Given the description of an element on the screen output the (x, y) to click on. 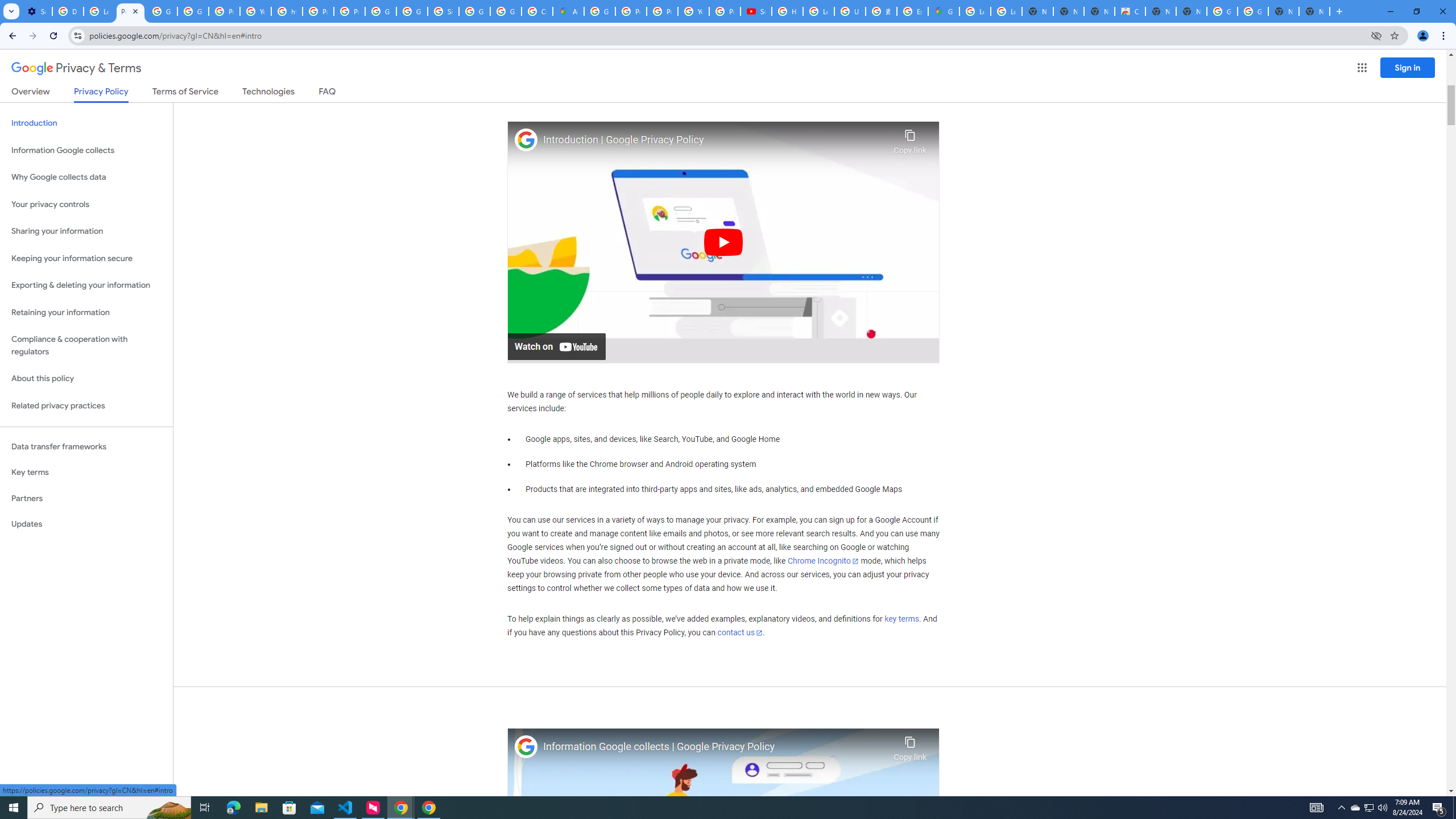
YouTube (255, 11)
YouTube (693, 11)
You (1422, 35)
Data transfer frameworks (86, 446)
Chrome Incognito (823, 561)
Technologies (268, 93)
Photo image of Google (526, 746)
Watch on YouTube (556, 346)
New Tab (1338, 11)
Chrome Web Store (1129, 11)
Privacy Help Center - Policies Help (662, 11)
Explore new street-level details - Google Maps Help (912, 11)
